Given the description of an element on the screen output the (x, y) to click on. 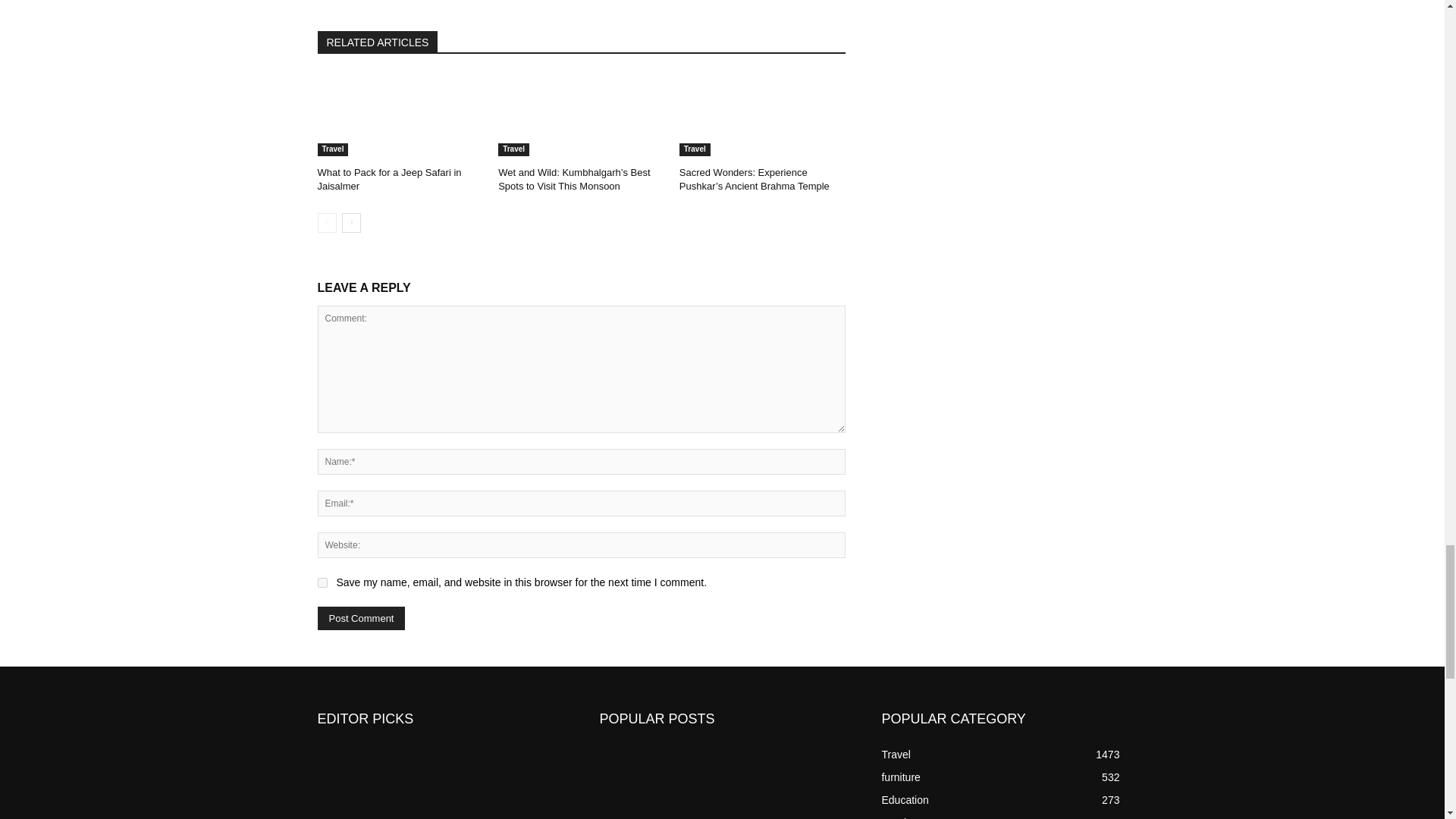
Post Comment (360, 617)
yes (321, 583)
